Given the description of an element on the screen output the (x, y) to click on. 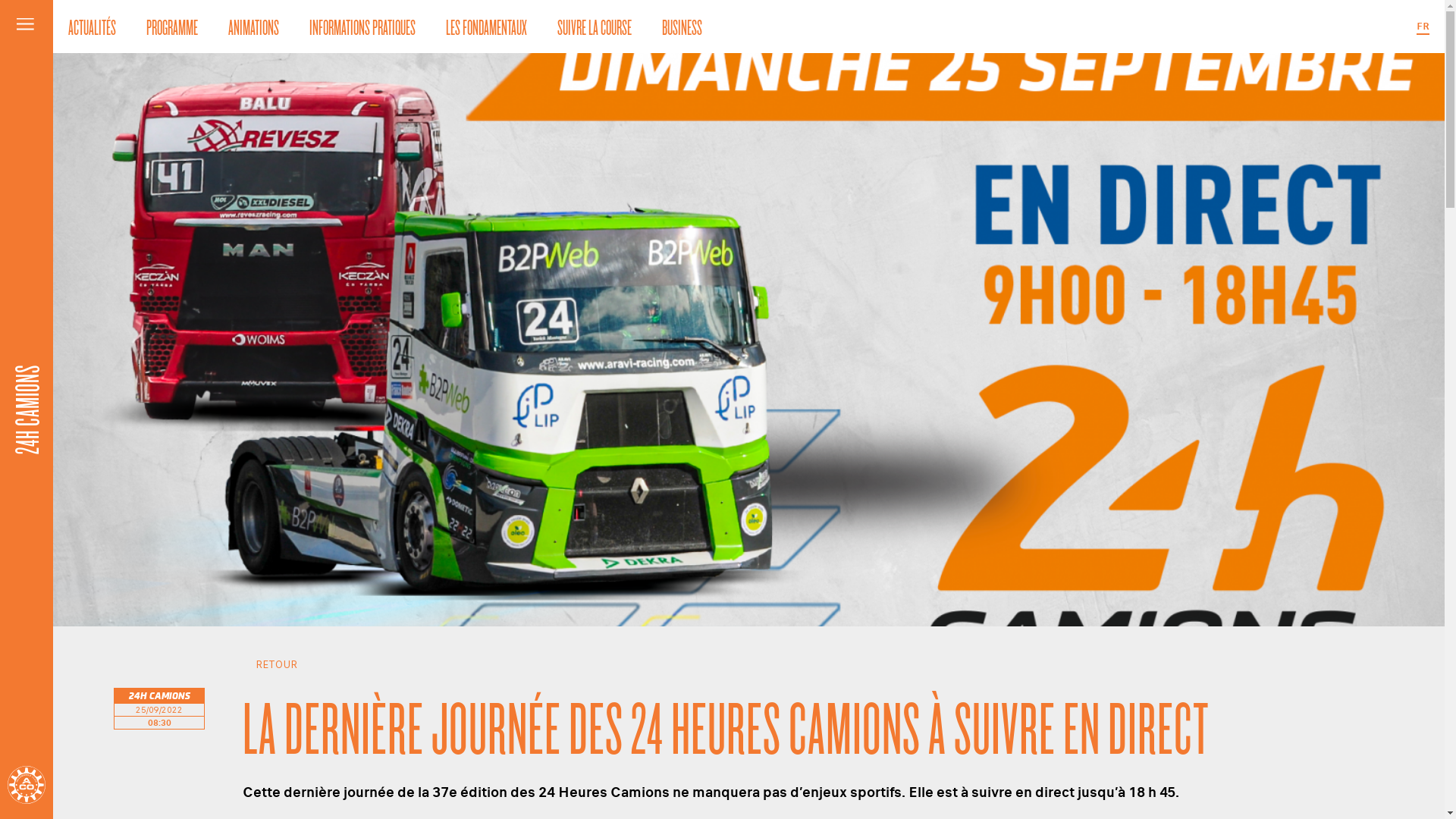
BUSINESS Element type: text (682, 26)
ANIMATIONS Element type: text (253, 26)
LES FONDAMENTAUX Element type: text (486, 26)
PROGRAMME Element type: text (171, 26)
INFORMATIONS PRATIQUES Element type: text (362, 26)
RETOUR Element type: text (794, 663)
Menu Element type: text (26, 26)
24H CAMIONS Element type: text (81, 353)
